Given the description of an element on the screen output the (x, y) to click on. 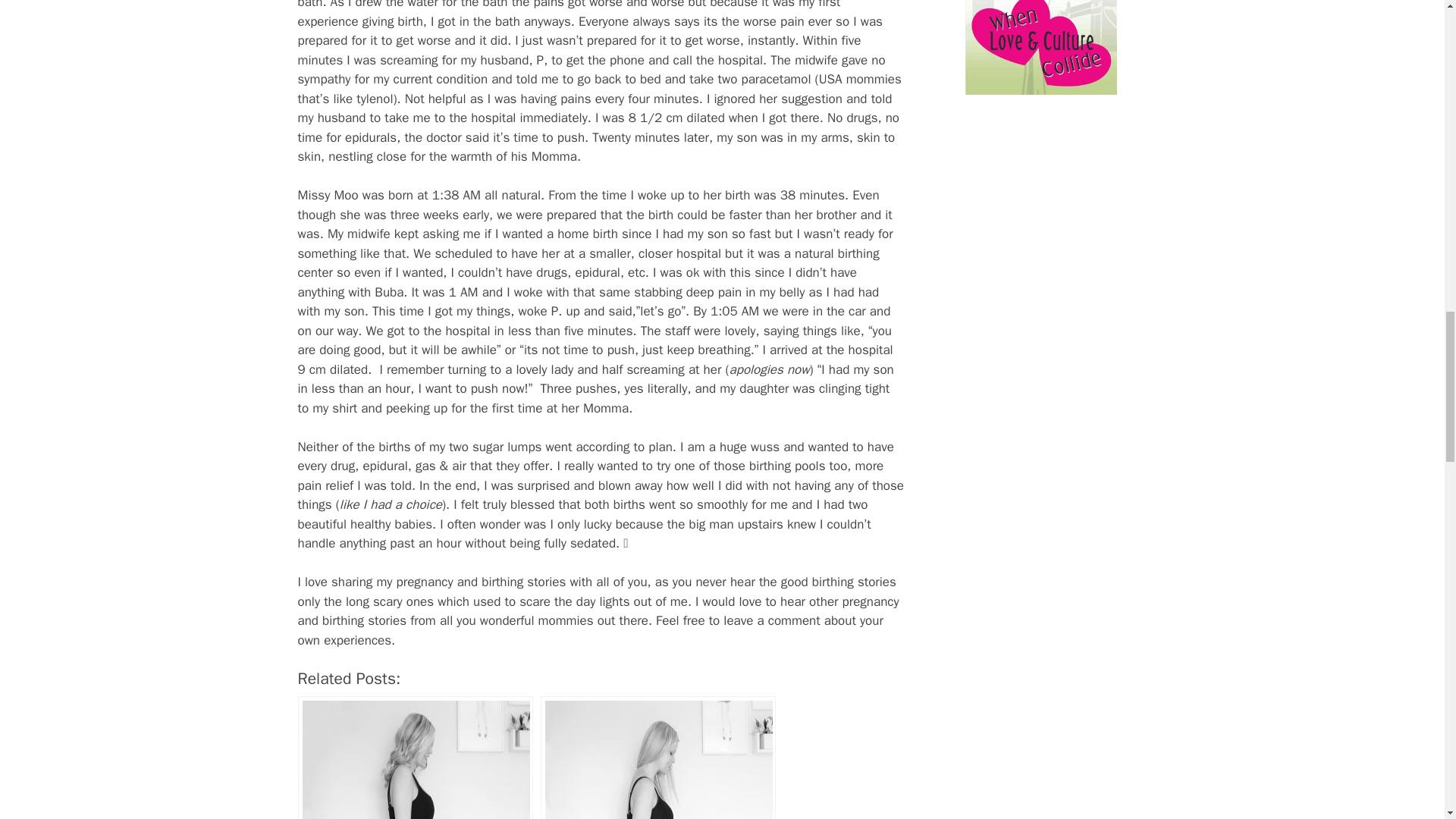
Pregnancy: 33 Weeks Bump Watch (658, 757)
Pregnancy: 25 Weeks Bump Watch (414, 757)
Pregnancy: 25 Weeks Bump Watch (414, 757)
Pregnancy: 33 Weeks Bump Watch (658, 757)
